Given the description of an element on the screen output the (x, y) to click on. 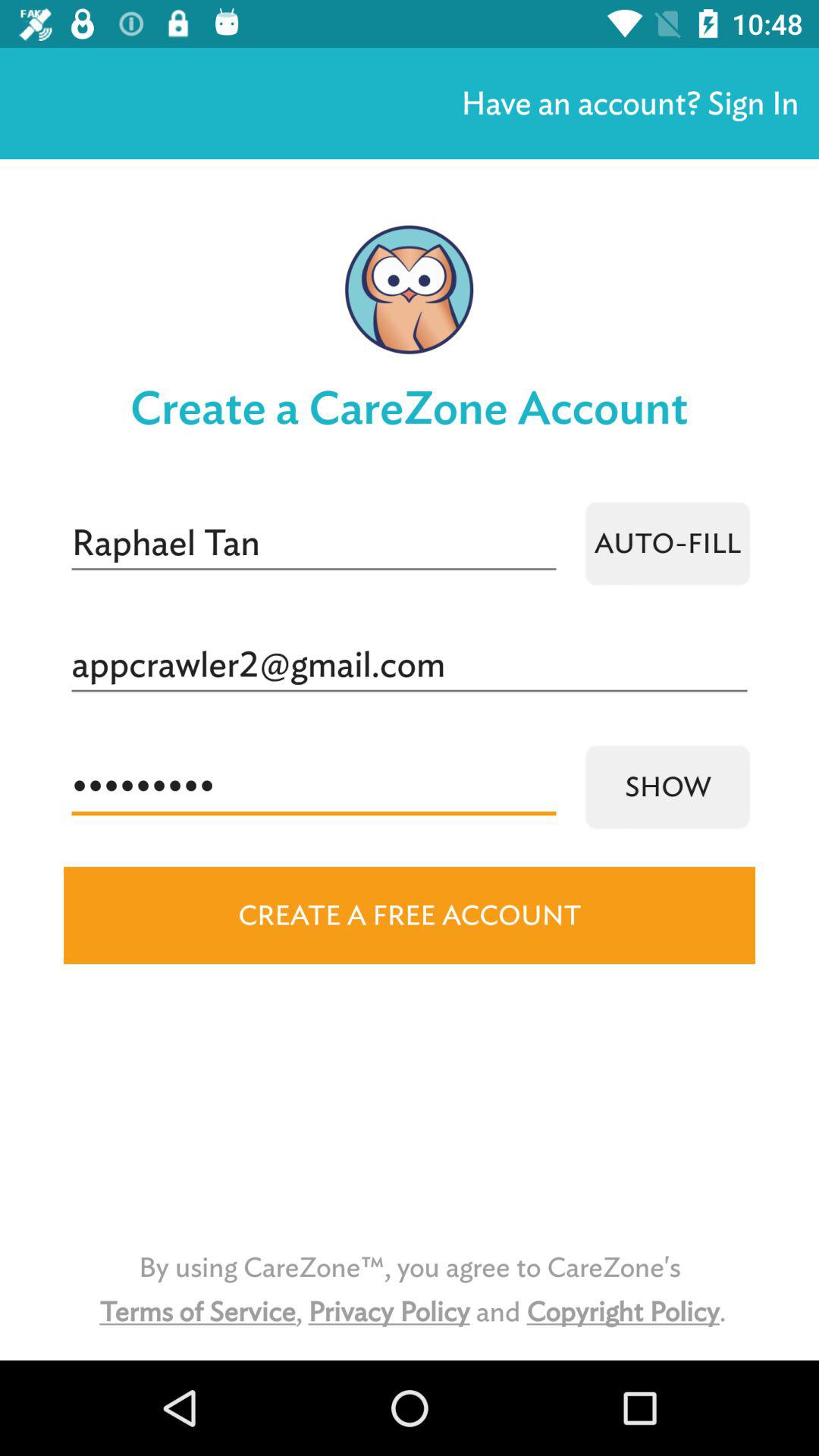
choose the icon above the appcrawler2@gmail.com item (313, 543)
